Given the description of an element on the screen output the (x, y) to click on. 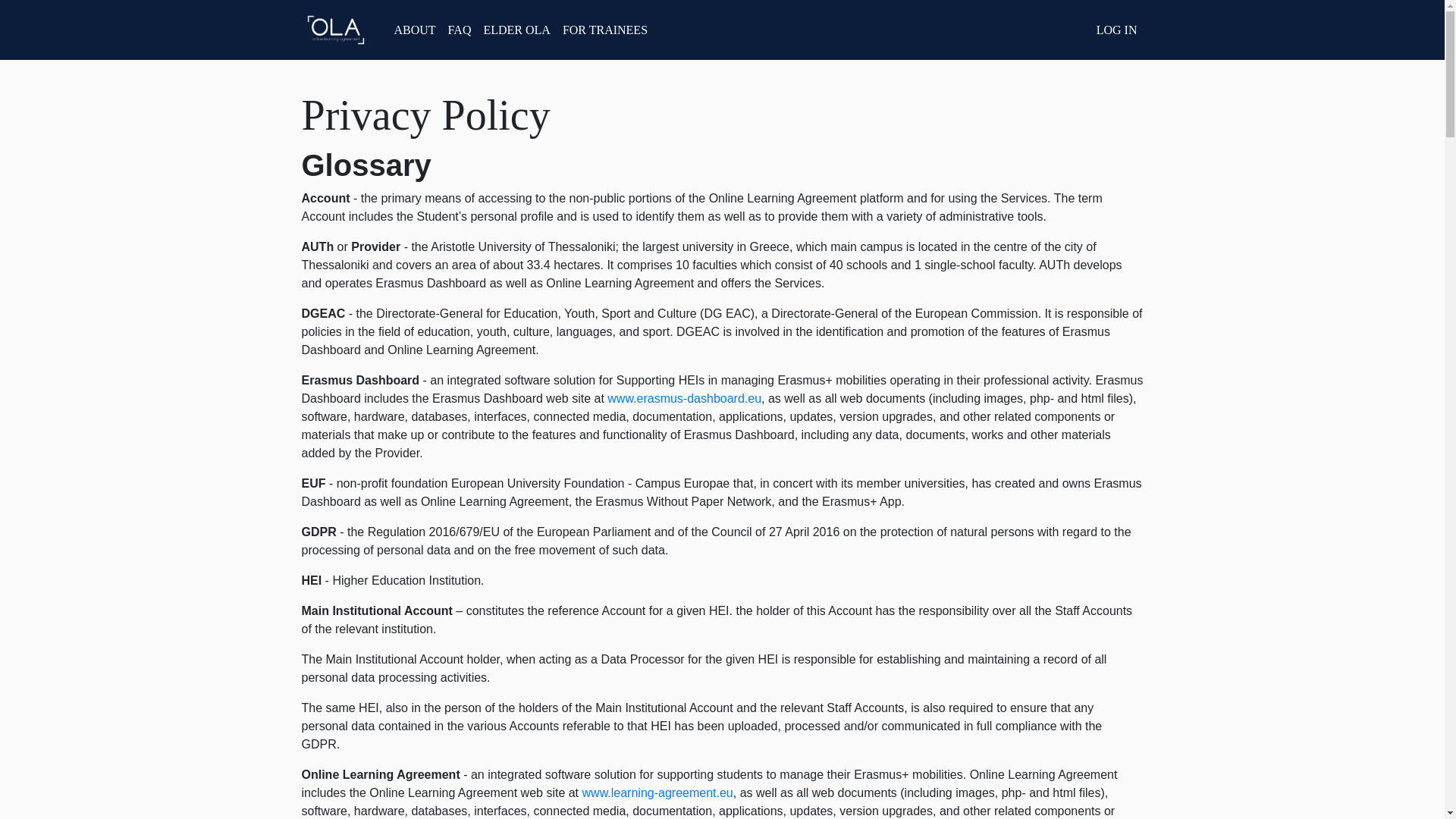
ABOUT (415, 30)
FAQ (459, 30)
FOR TRAINEES (604, 30)
www.learning-agreement.eu (657, 792)
ELDER OLA (516, 30)
www.erasmus-dashboard.eu (684, 398)
LOG IN (1116, 30)
